Given the description of an element on the screen output the (x, y) to click on. 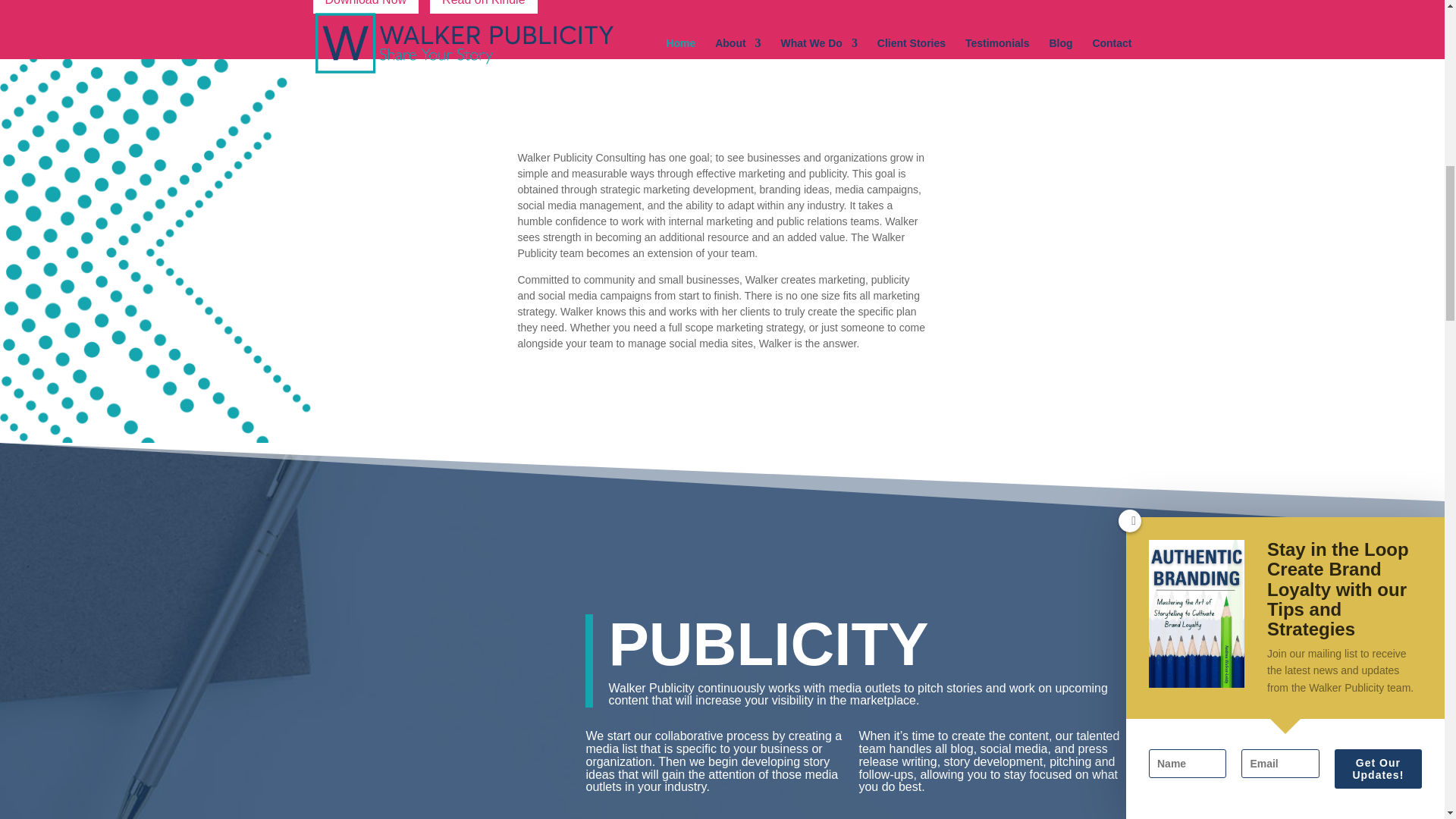
Download Now (366, 6)
